Given the description of an element on the screen output the (x, y) to click on. 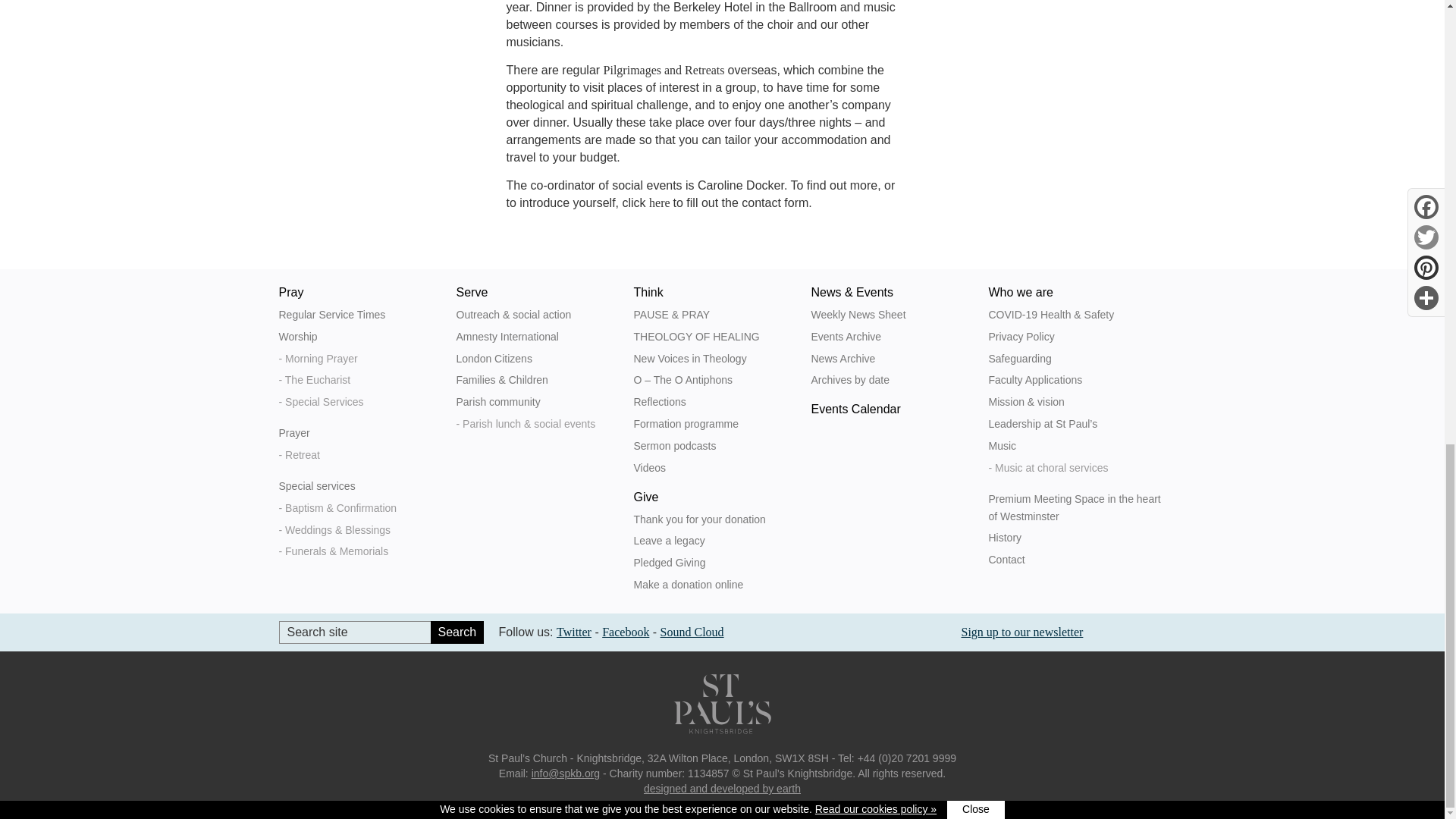
Search (456, 631)
Search (456, 631)
